Given the description of an element on the screen output the (x, y) to click on. 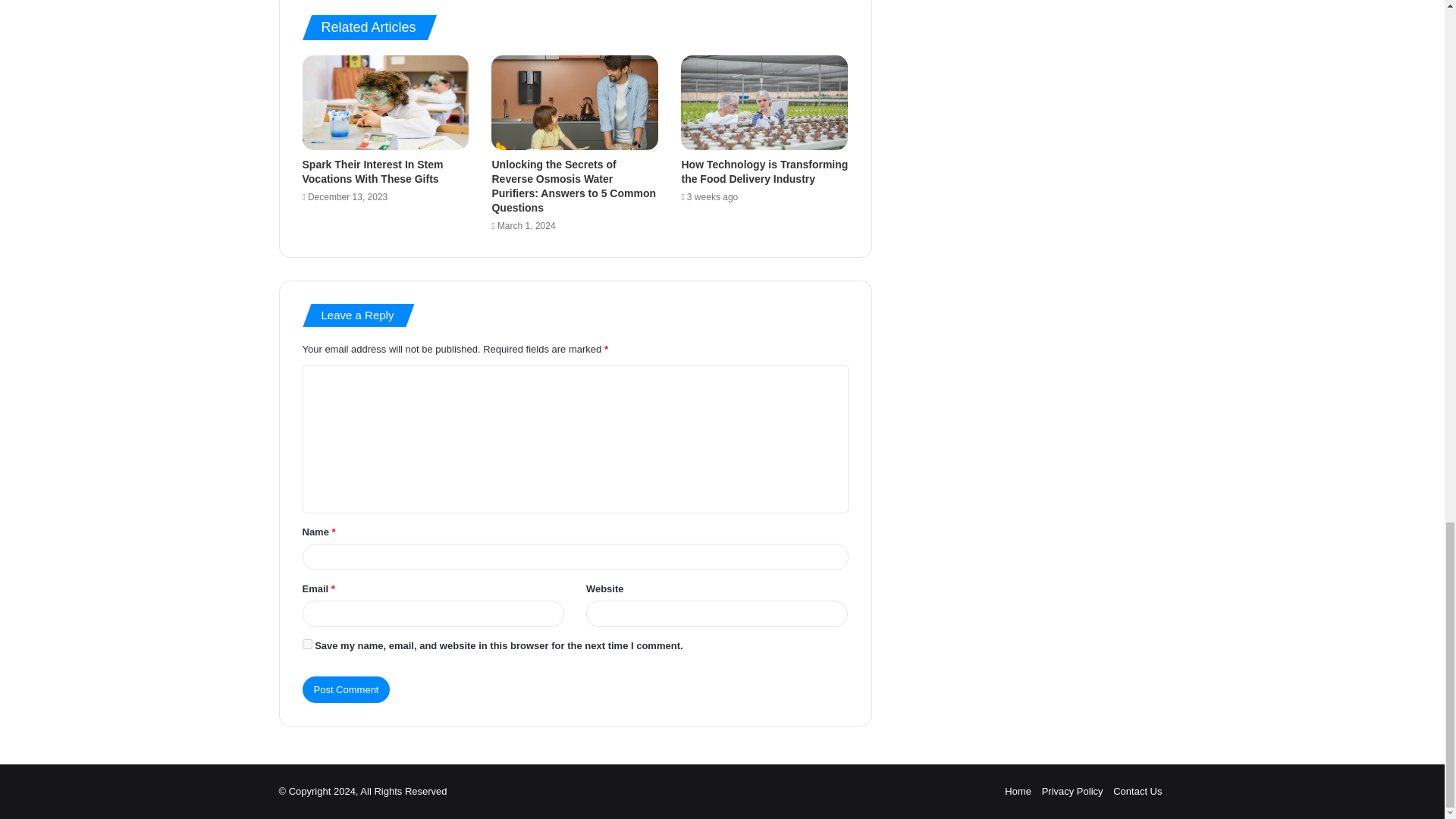
yes (306, 644)
Spark Their Interest In Stem Vocations With These Gifts (371, 171)
Post Comment (345, 689)
